Given the description of an element on the screen output the (x, y) to click on. 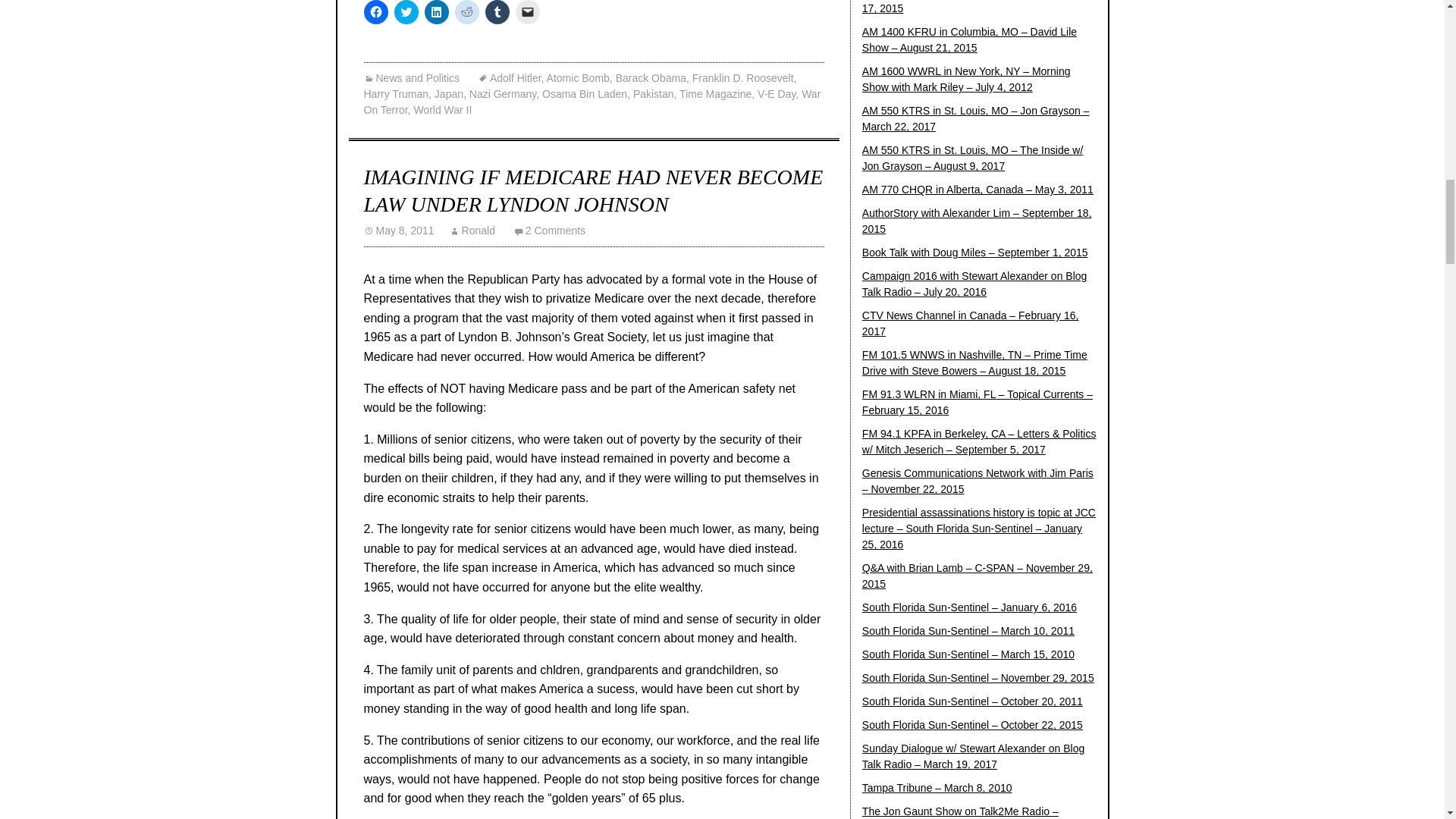
Atomic Bomb (578, 78)
Adolf Hitler (509, 78)
Barack Obama (650, 78)
News and Politics (412, 78)
Click to share on Twitter (406, 12)
Click to share on Facebook (376, 12)
